Given the description of an element on the screen output the (x, y) to click on. 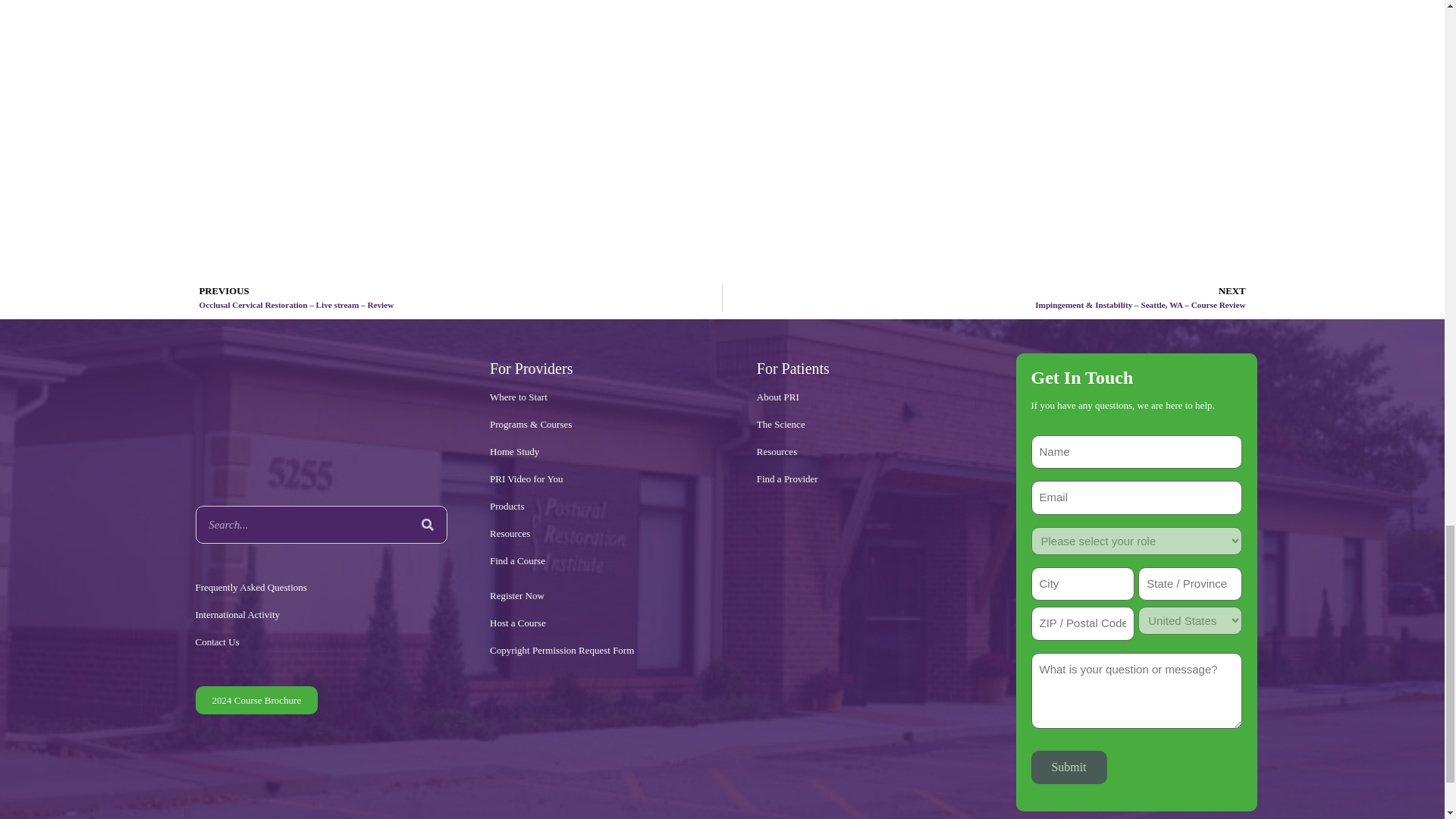
Frequently Asked Questions (321, 587)
International Activity (321, 614)
PRI Video for You (601, 479)
Home Study (601, 452)
Submit (1068, 767)
Products (601, 506)
Contact Us (321, 642)
Where to Start (601, 397)
2024 Course Brochure (256, 700)
